Given the description of an element on the screen output the (x, y) to click on. 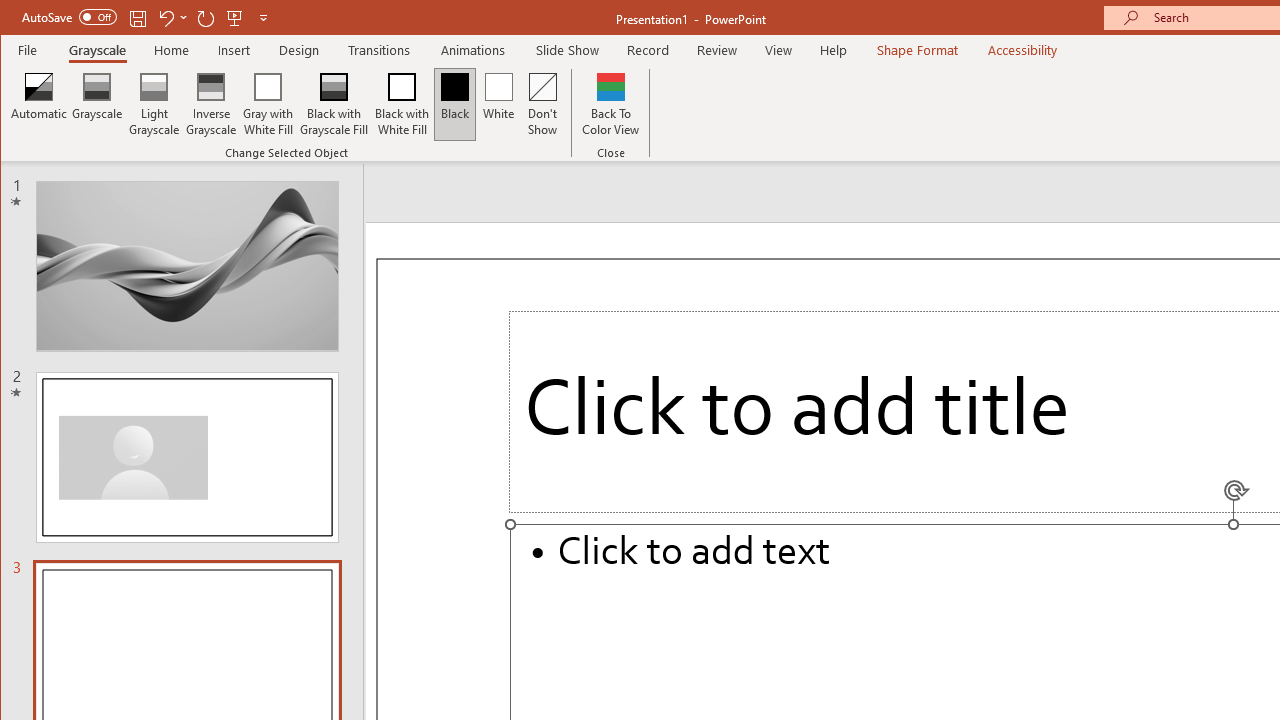
Black with Grayscale Fill (334, 104)
Black (454, 104)
Don't Show (543, 104)
